Given the description of an element on the screen output the (x, y) to click on. 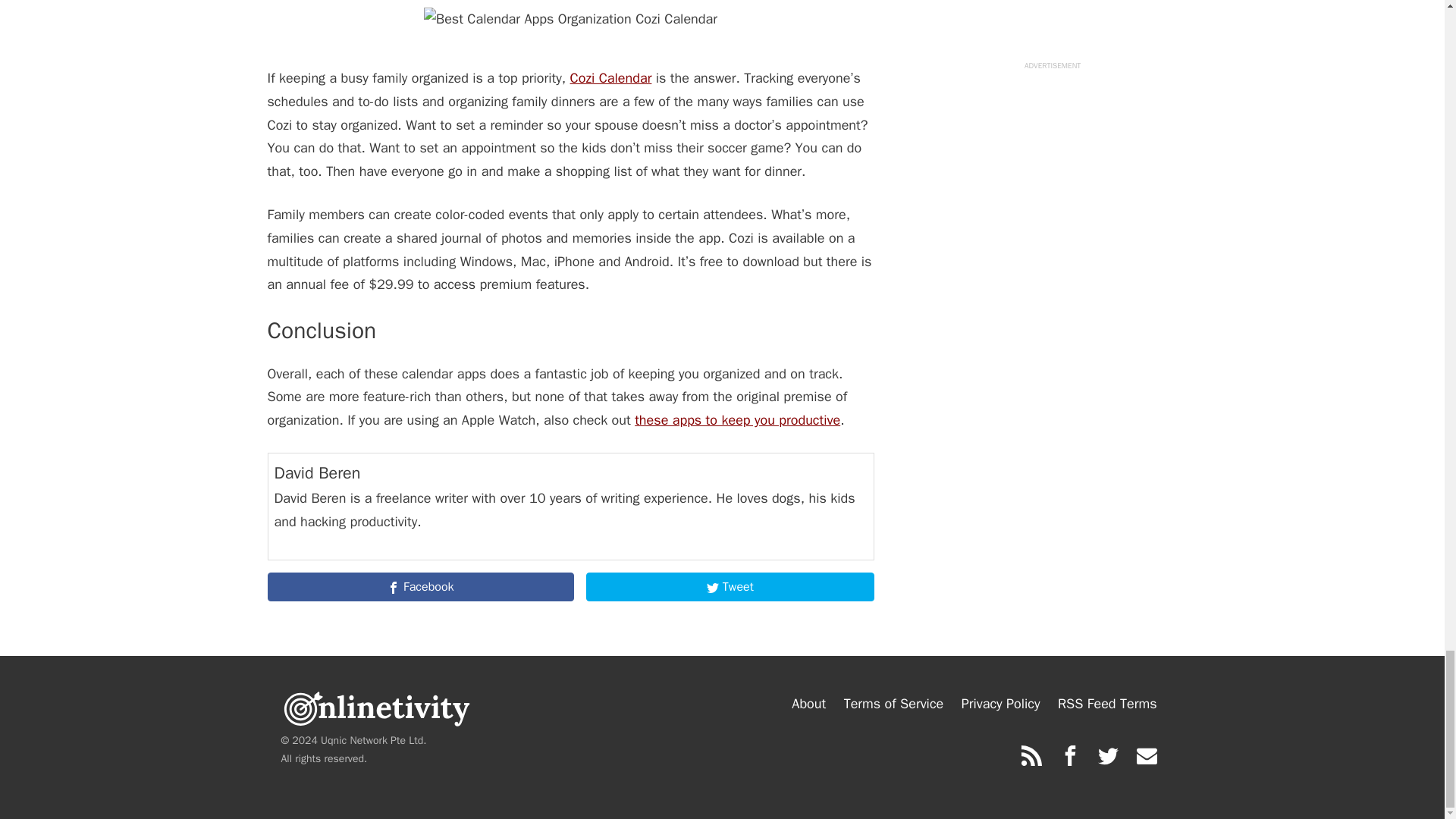
Privacy Policy (1000, 703)
Facebook (419, 586)
Tweet (729, 586)
Terms of Service (893, 703)
RSS Feed Terms (1107, 703)
About (808, 703)
Cozi Calendar (611, 77)
these apps to keep you productive (737, 419)
